Given the description of an element on the screen output the (x, y) to click on. 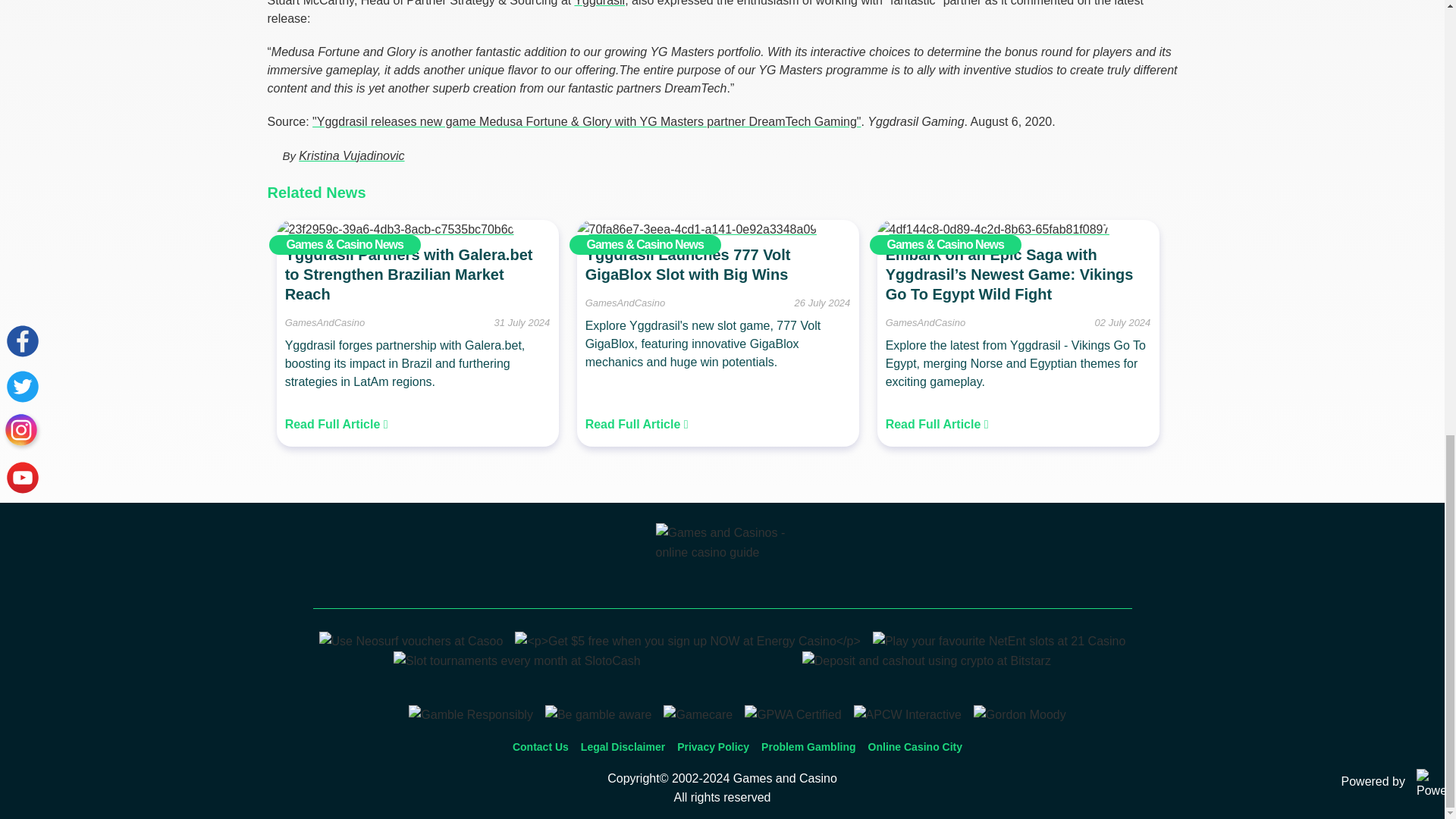
EnergyCasino (687, 640)
Casoo Casino (410, 640)
21 Casino (998, 640)
Sloto'Cash Casino (516, 660)
BitStarz Casino (926, 660)
Yggdrasil Casinos (598, 3)
Games and Casinos - online casino guide (722, 560)
